Given the description of an element on the screen output the (x, y) to click on. 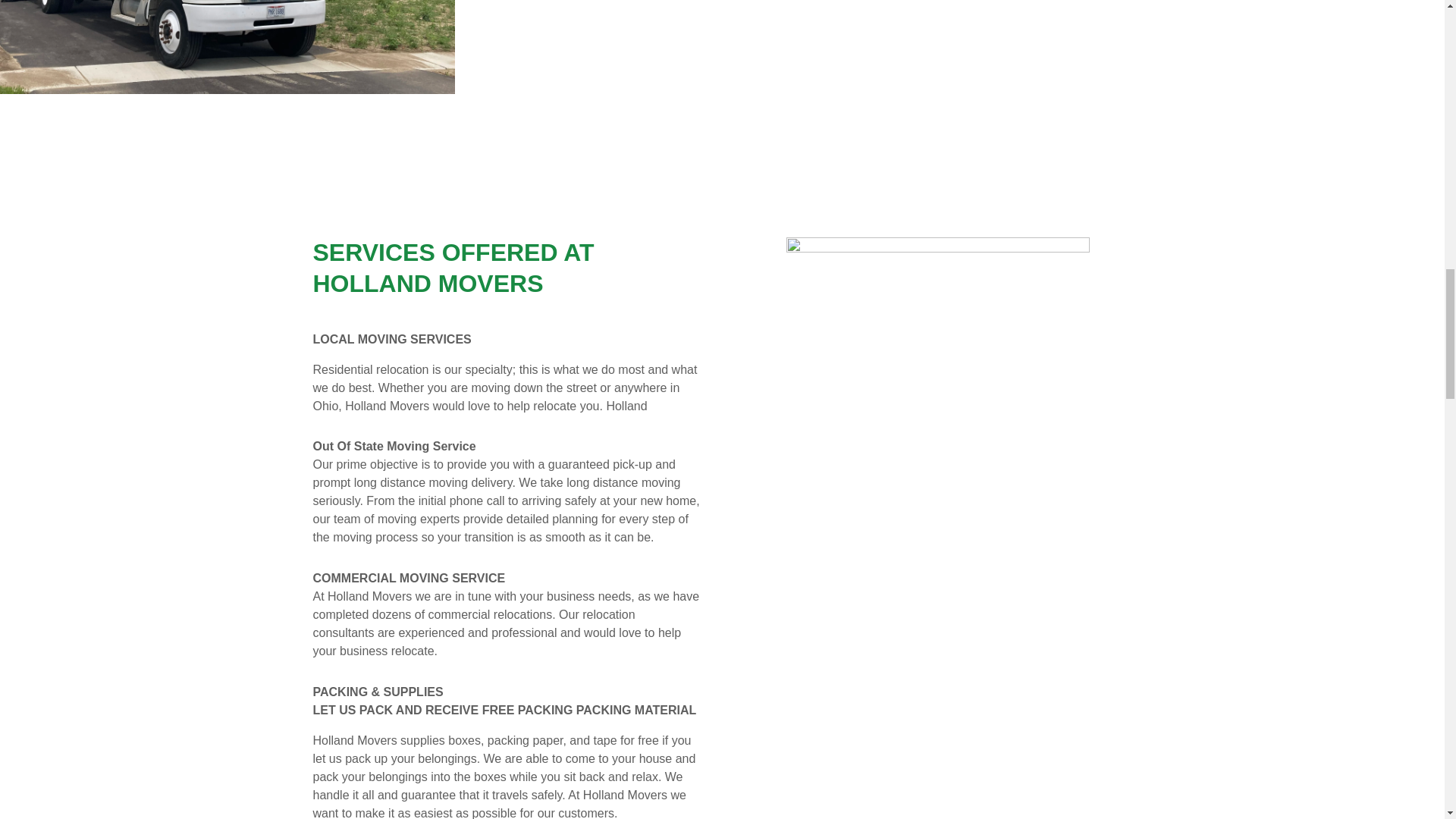
quality (937, 389)
